Given the description of an element on the screen output the (x, y) to click on. 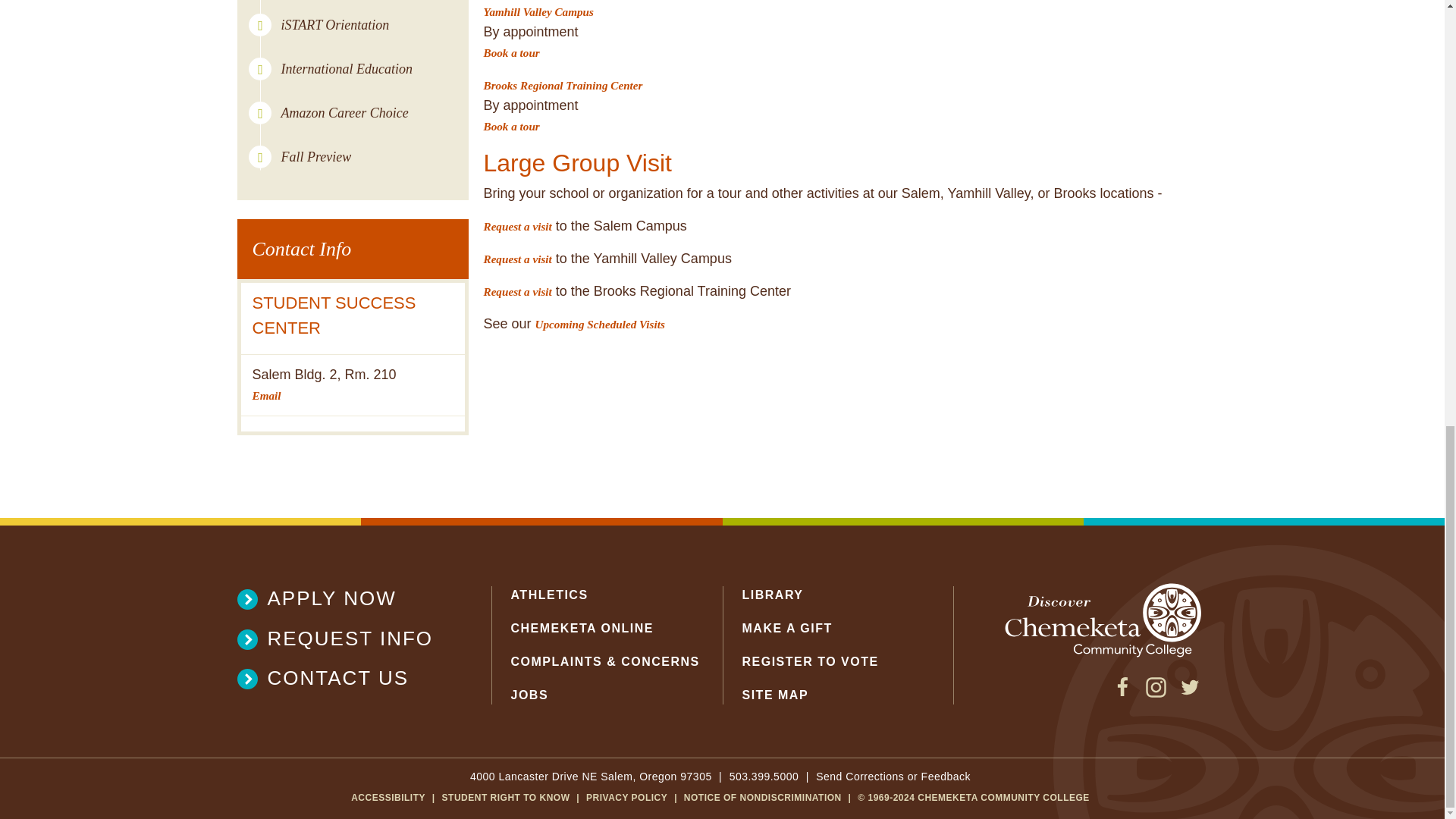
Facebook (1122, 693)
Instagram (1155, 693)
Twitter (1189, 693)
Apply Now (343, 598)
Contact Us (343, 678)
Request Info (343, 637)
